Given the description of an element on the screen output the (x, y) to click on. 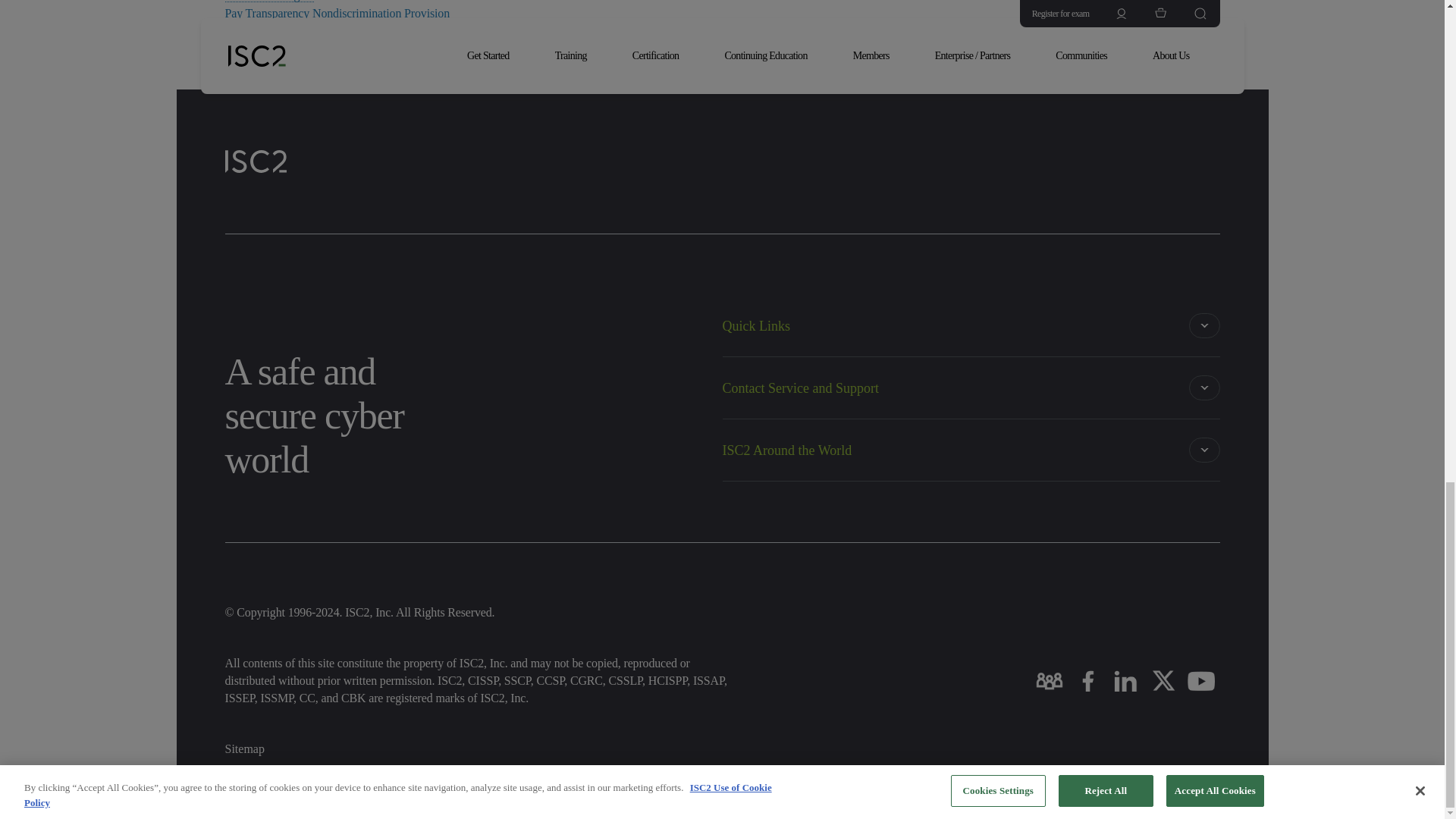
Know Your Rights (268, 1)
Sitemap (243, 748)
Pay Transparency Nondiscrimination Provision (336, 13)
